Given the description of an element on the screen output the (x, y) to click on. 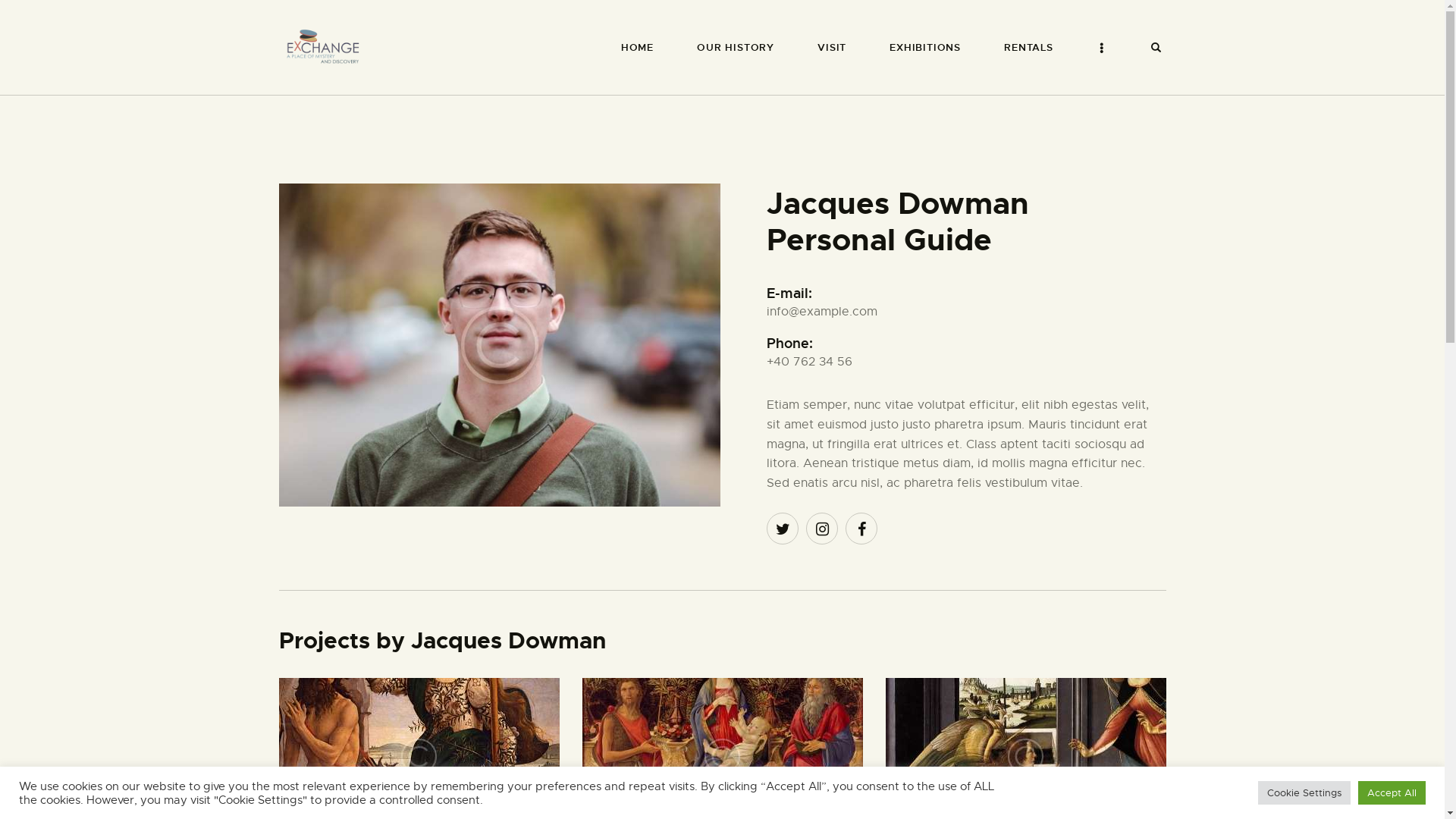
OUR HISTORY Element type: text (735, 47)
Accept All Element type: text (1391, 792)
HOME Element type: text (636, 47)
RENTALS Element type: text (1028, 47)
+40 762 34 56 Element type: text (809, 361)
info@example.com Element type: text (821, 311)
VISIT Element type: text (832, 47)
Cookie Settings Element type: text (1304, 792)
EXHIBITIONS Element type: text (925, 47)
